Given the description of an element on the screen output the (x, y) to click on. 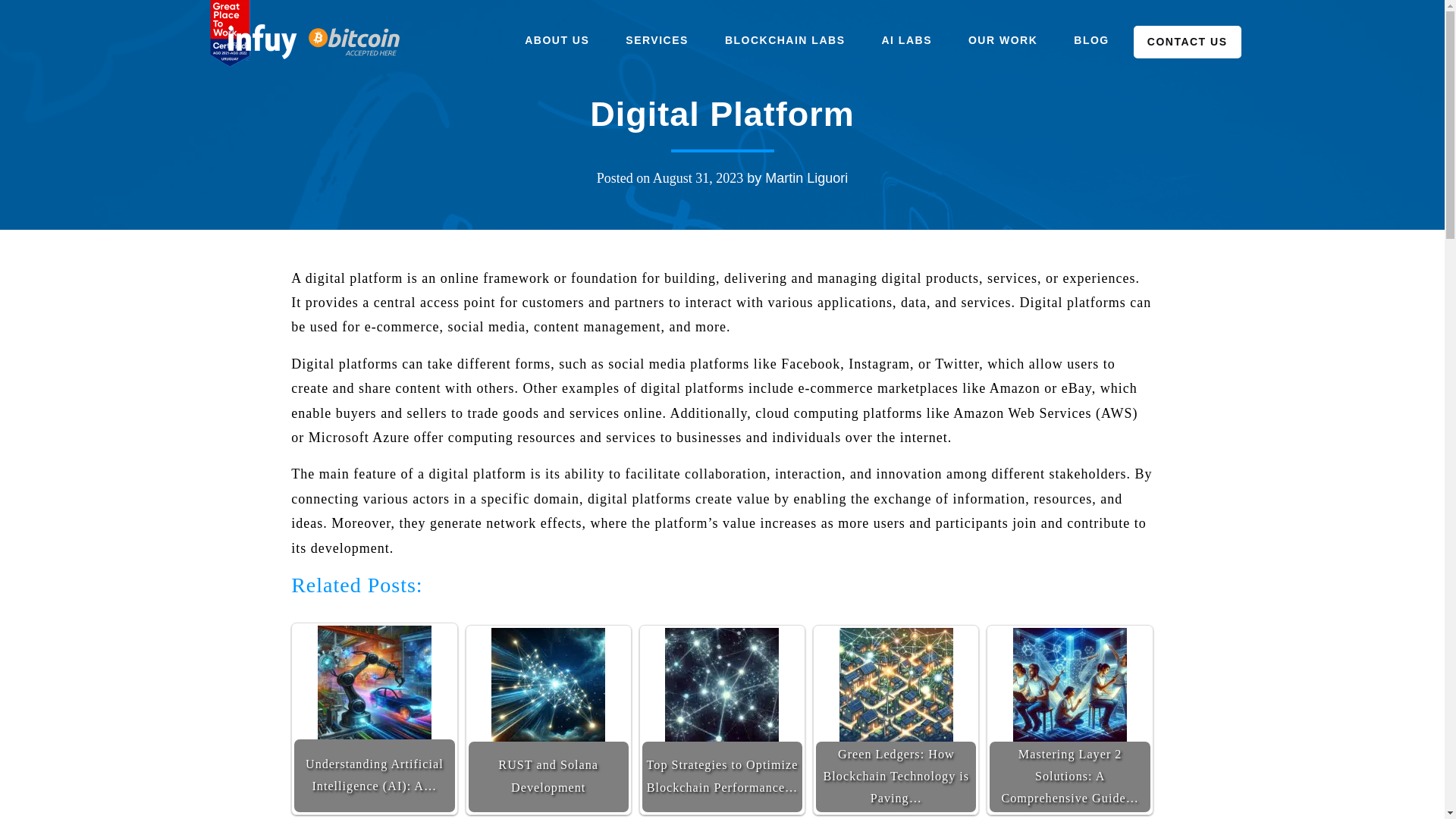
BLOG (1091, 40)
ABOUT US (556, 40)
AI LABS (906, 40)
Martin Liguori (806, 177)
CONTACT US (1187, 41)
SERVICES (656, 40)
BLOCKCHAIN LABS (785, 40)
RUST and Solana Development (548, 685)
